Given the description of an element on the screen output the (x, y) to click on. 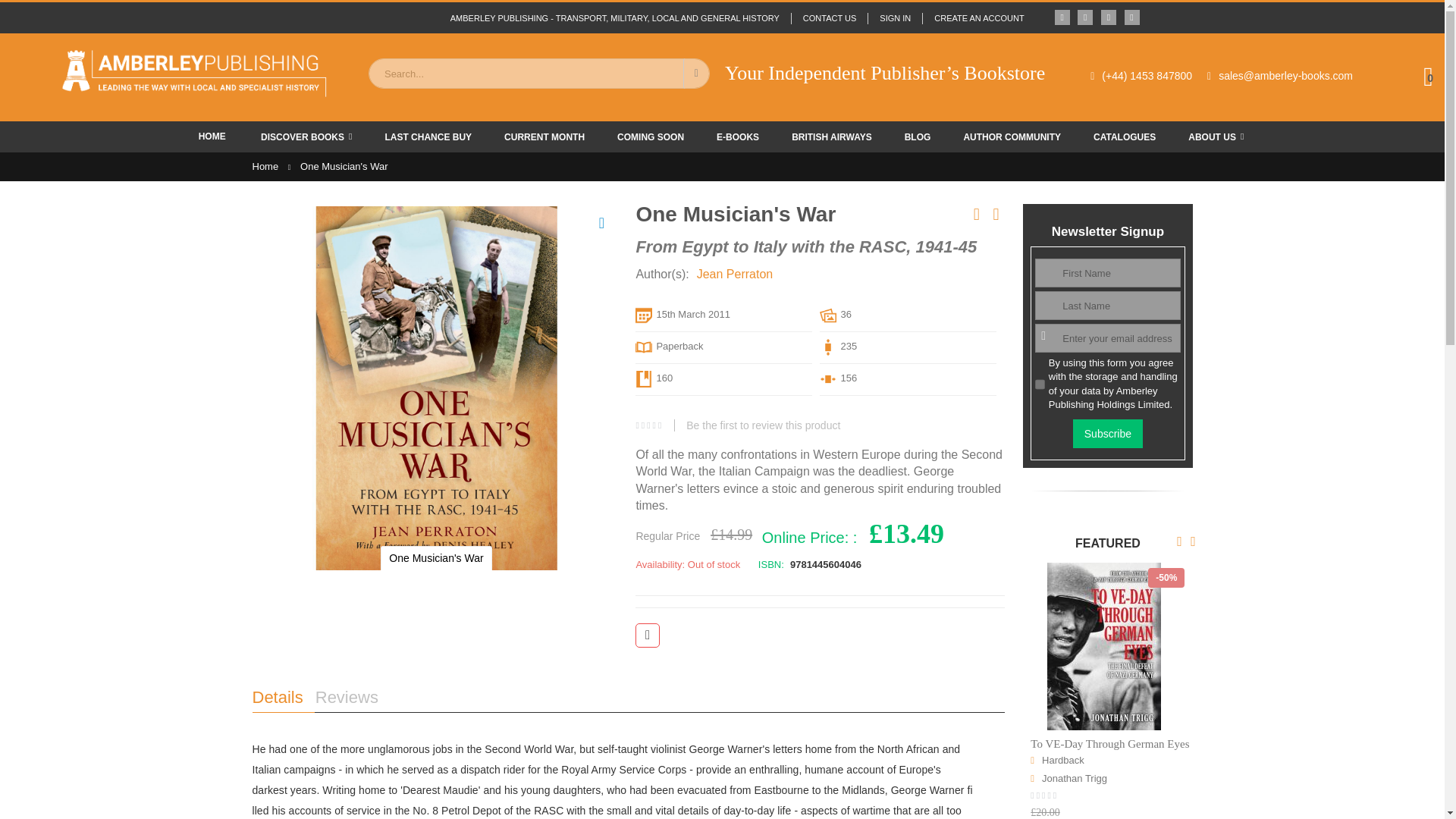
SIGN IN (894, 18)
Ambereley Publishing Logo (193, 72)
CONTACT US (828, 18)
HOME (212, 136)
CREATE AN ACCOUNT (972, 18)
DISCOVER BOOKS (306, 136)
Discover Books (306, 136)
